Given the description of an element on the screen output the (x, y) to click on. 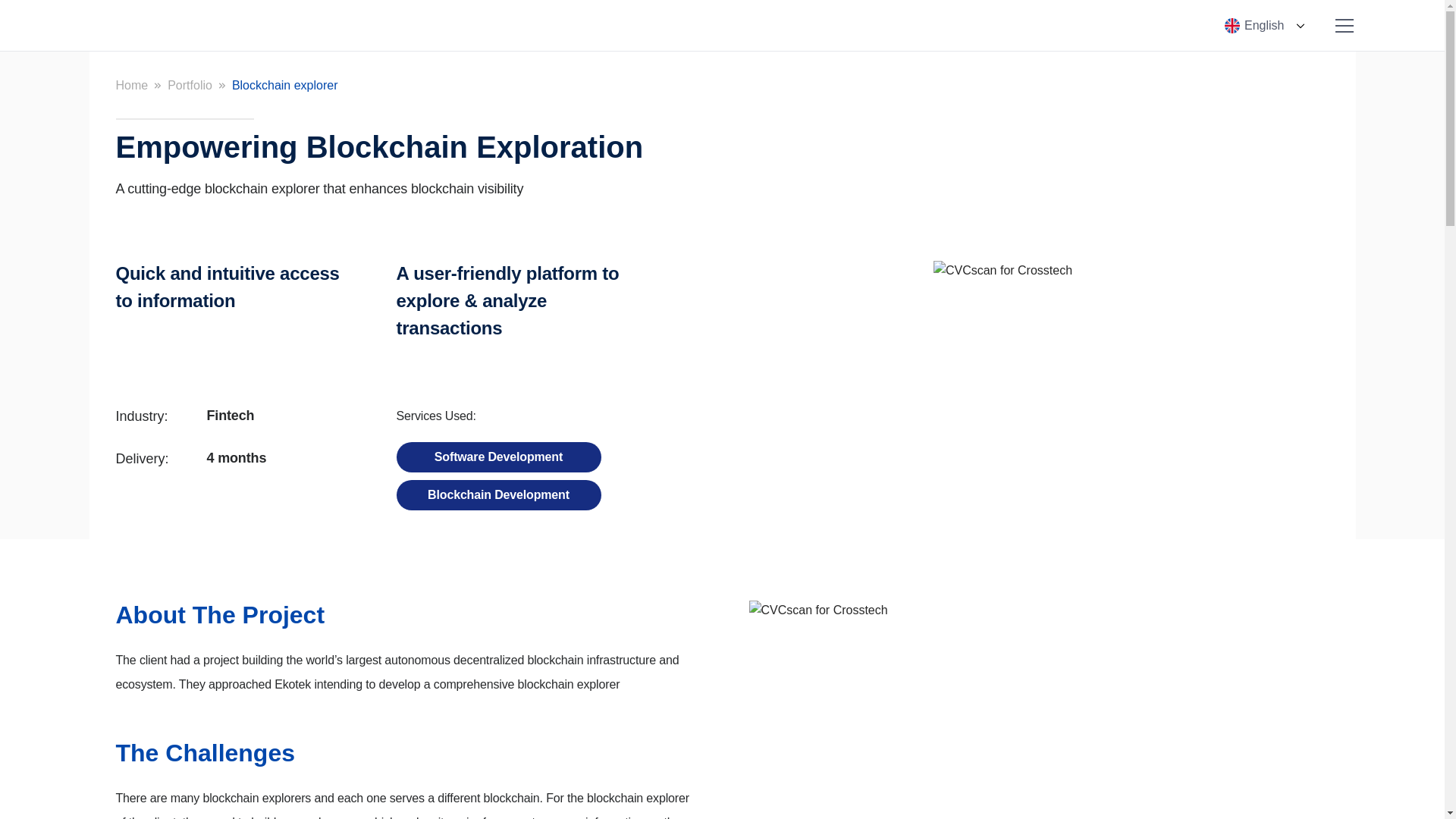
Fintech (229, 415)
Blockchain Development (498, 494)
Software Development (497, 456)
Portfolio (189, 85)
Home (131, 85)
Blockchain explorer (284, 85)
